Given the description of an element on the screen output the (x, y) to click on. 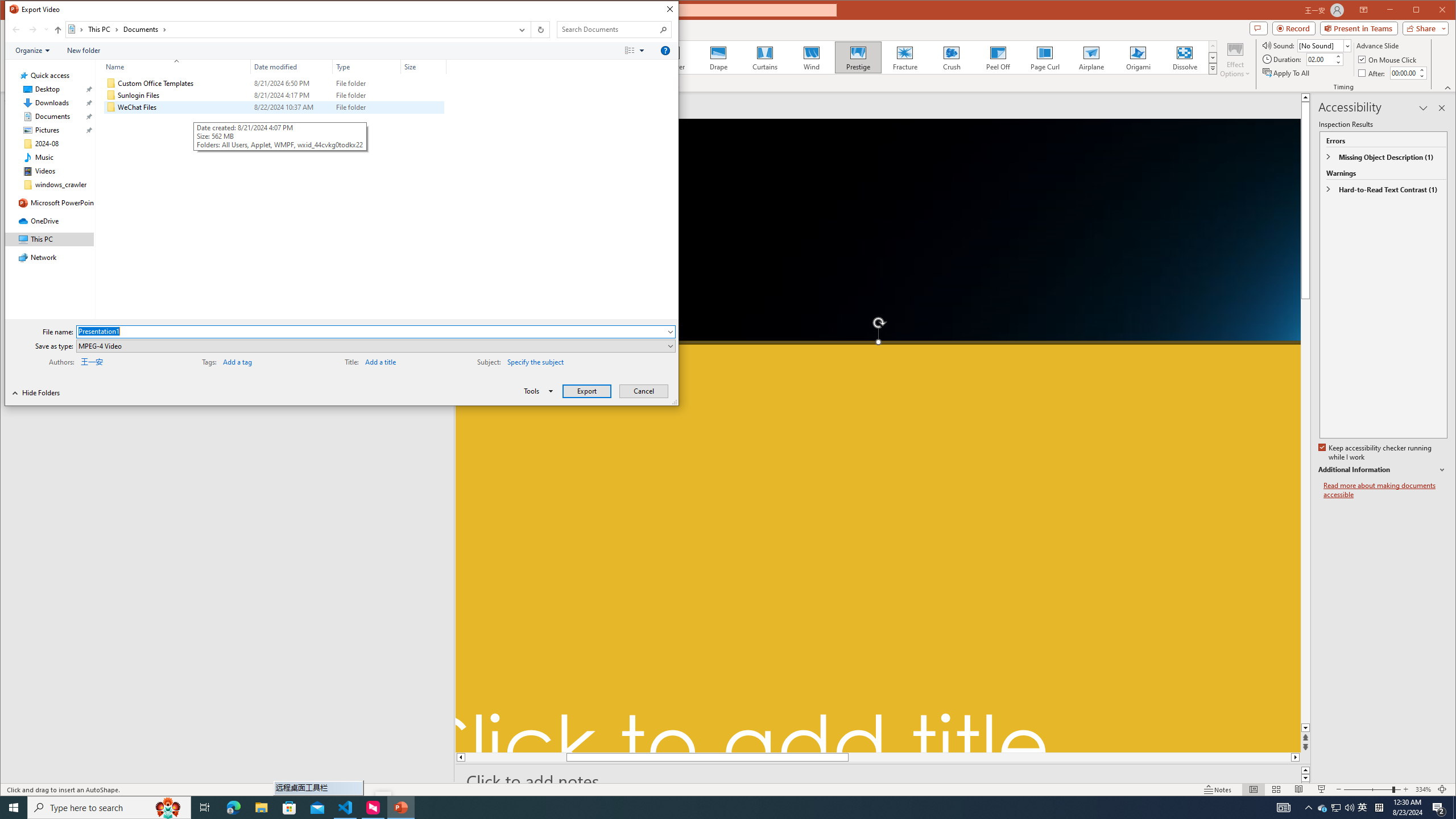
Cancel (643, 391)
Tools (536, 390)
Custom Office Templates (273, 83)
File name: (375, 331)
After (1372, 72)
Filter dropdown (440, 66)
Address band toolbar (530, 29)
